Given the description of an element on the screen output the (x, y) to click on. 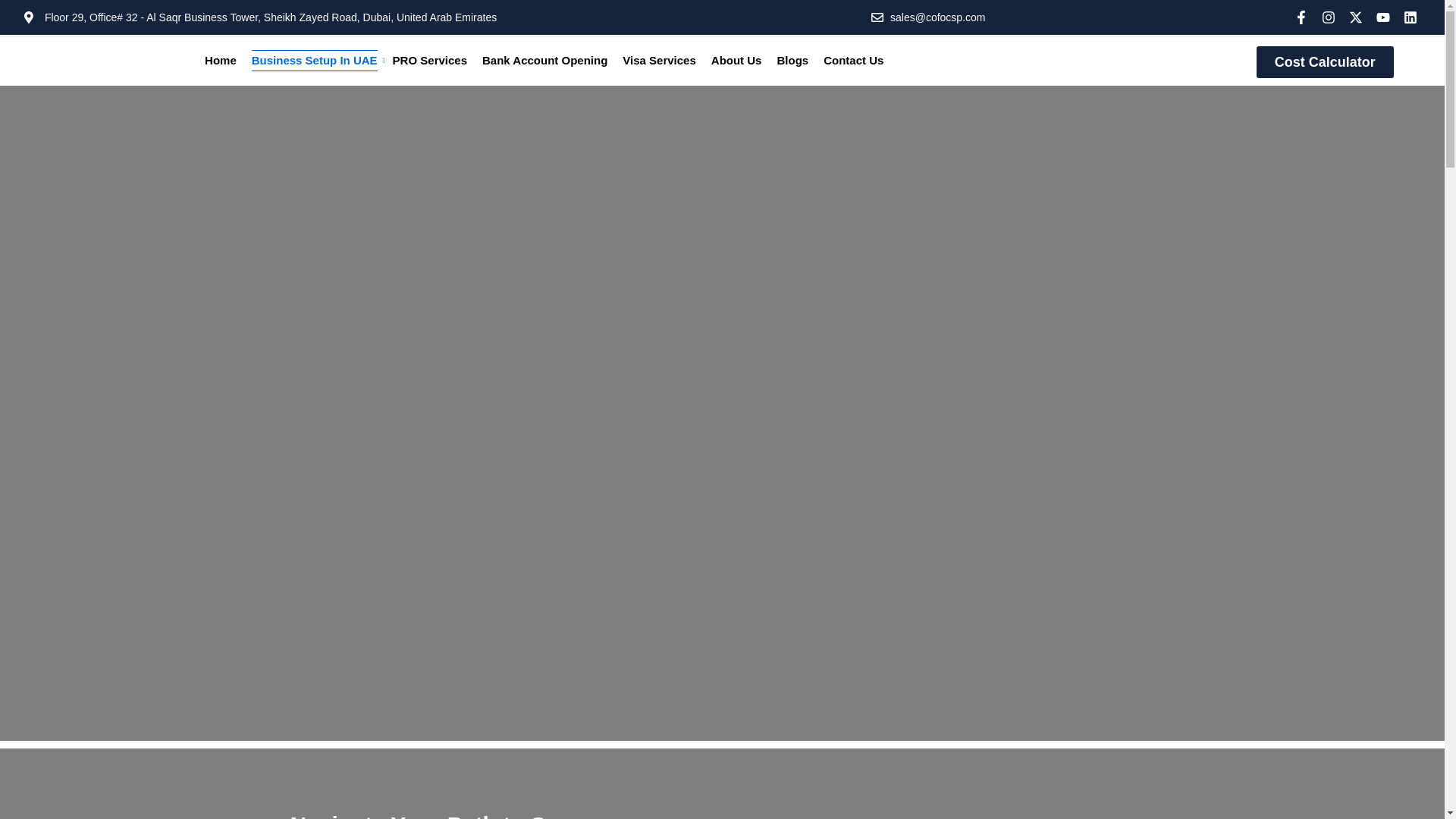
Facebook-f (1300, 17)
Blogs (792, 60)
Bank Account Opening (545, 60)
Youtube (1382, 17)
PRO Services (429, 60)
Business Setup In UAE (314, 60)
Cost Calculator (1324, 61)
Visa Services (658, 60)
Instagram (1328, 17)
About Us (736, 60)
Linkedin (1409, 17)
X-twitter (1355, 17)
Home (220, 60)
Contact Us (852, 60)
